Given the description of an element on the screen output the (x, y) to click on. 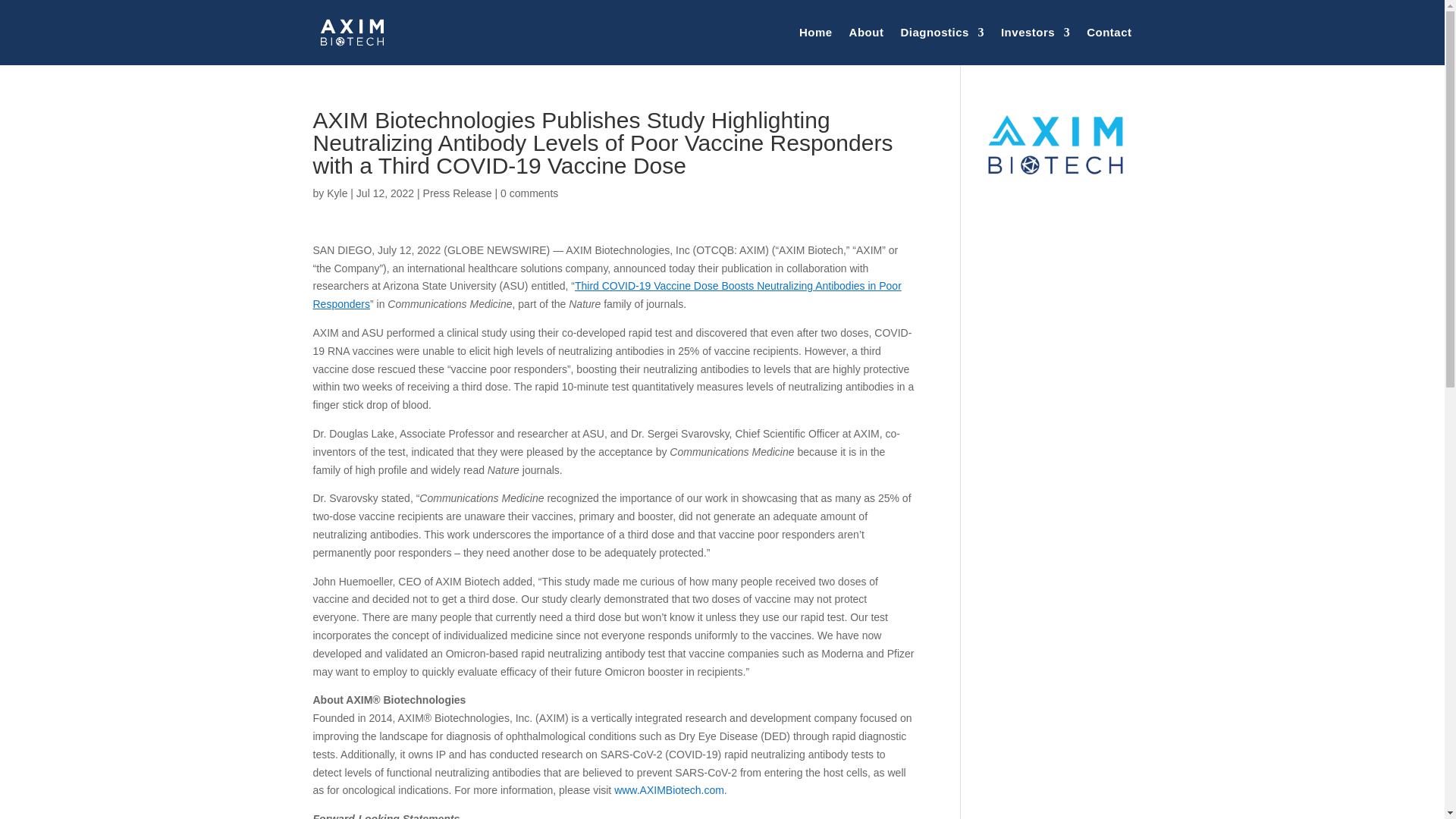
Posts by Kyle (336, 193)
0 comments (528, 193)
Investors (1035, 32)
www.AXIMBiotech.com (668, 789)
Press Release (457, 193)
Diagnostics (941, 32)
www.AXIMBiotech.com (668, 789)
Kyle (336, 193)
